Given the description of an element on the screen output the (x, y) to click on. 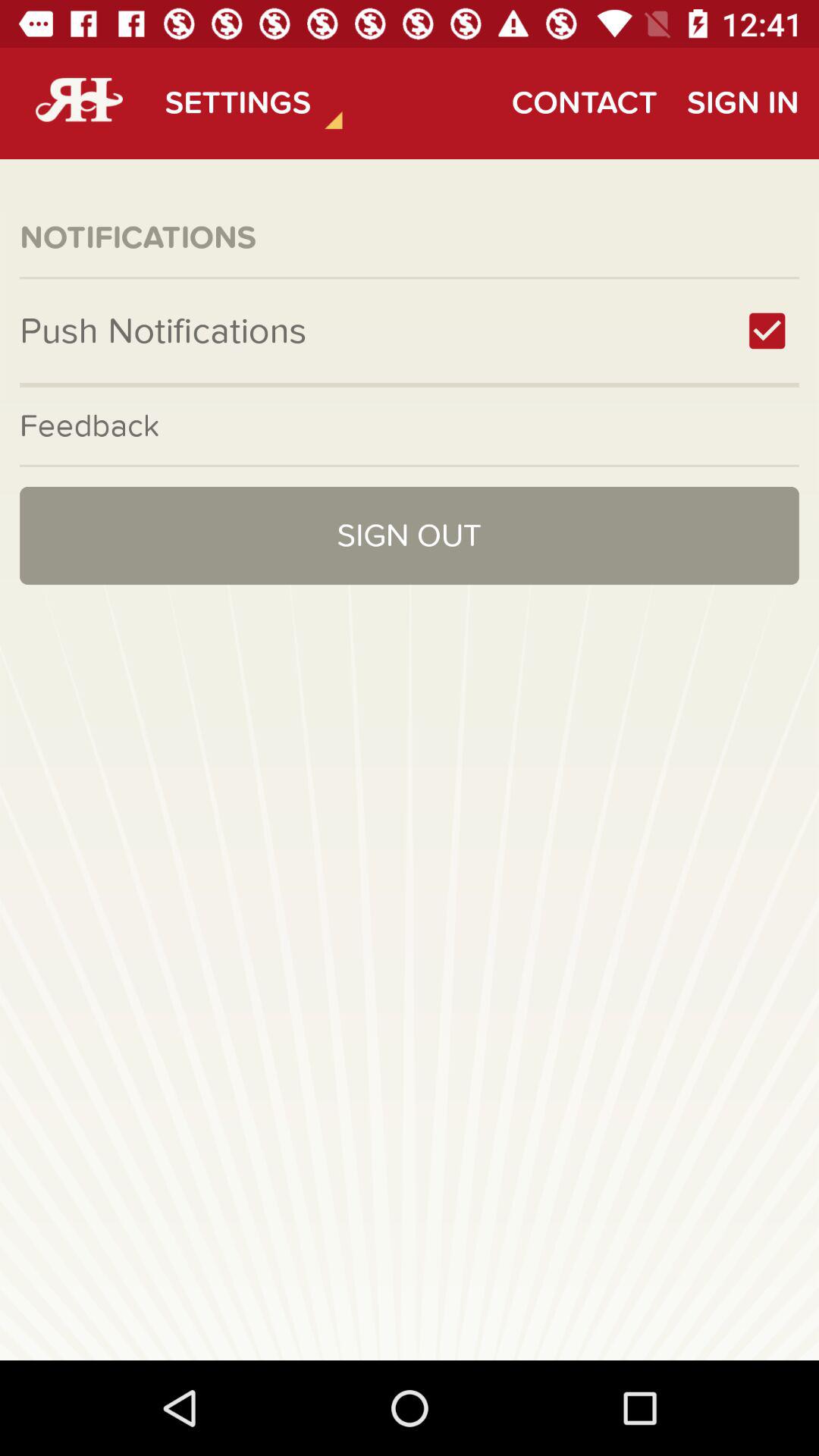
turn off push notifications (767, 330)
